Given the description of an element on the screen output the (x, y) to click on. 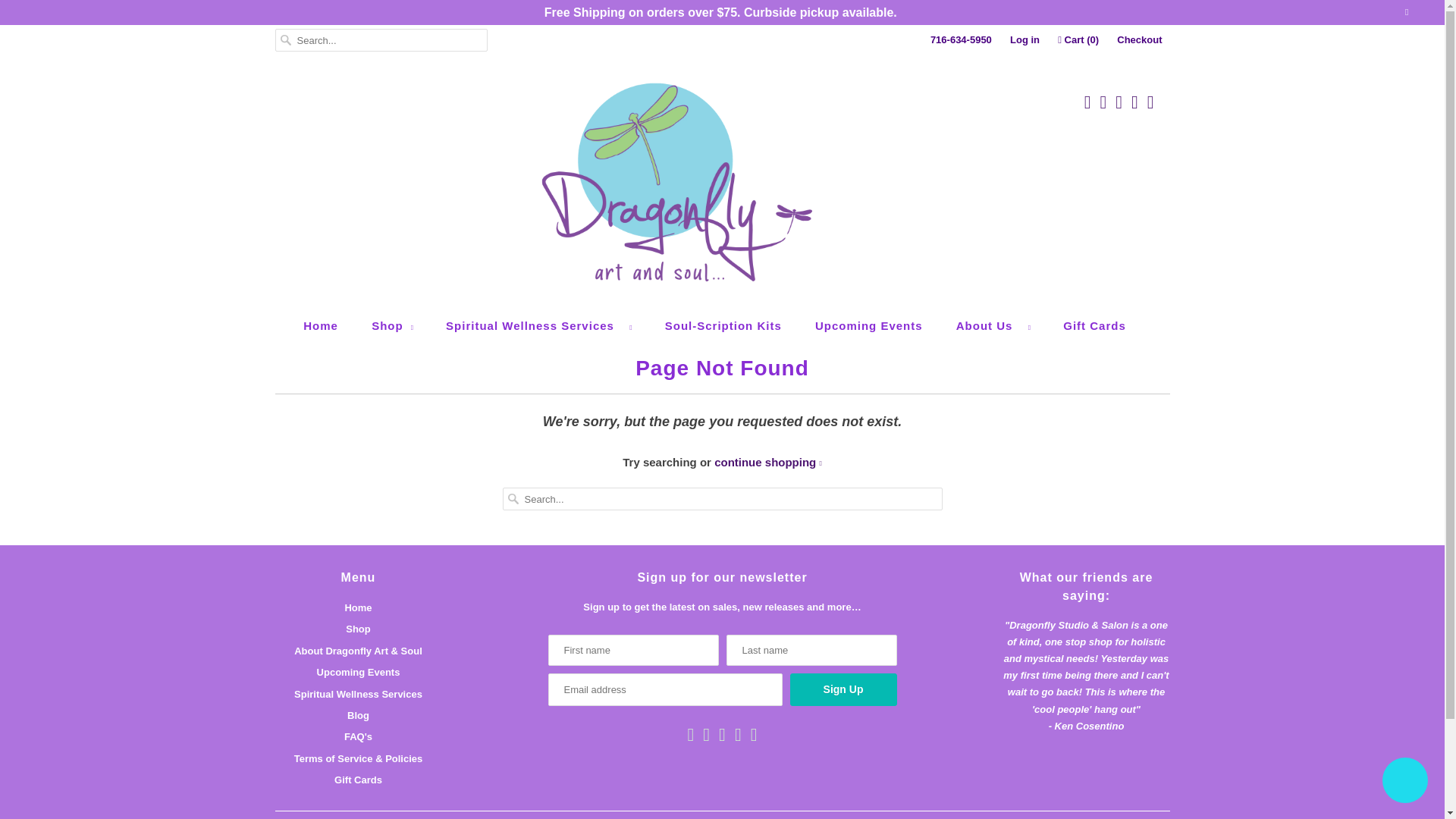
Log in (1024, 39)
716-634-5950 (960, 39)
Sign Up (843, 689)
Shopify online store chat (1404, 781)
Checkout (1138, 39)
